Given the description of an element on the screen output the (x, y) to click on. 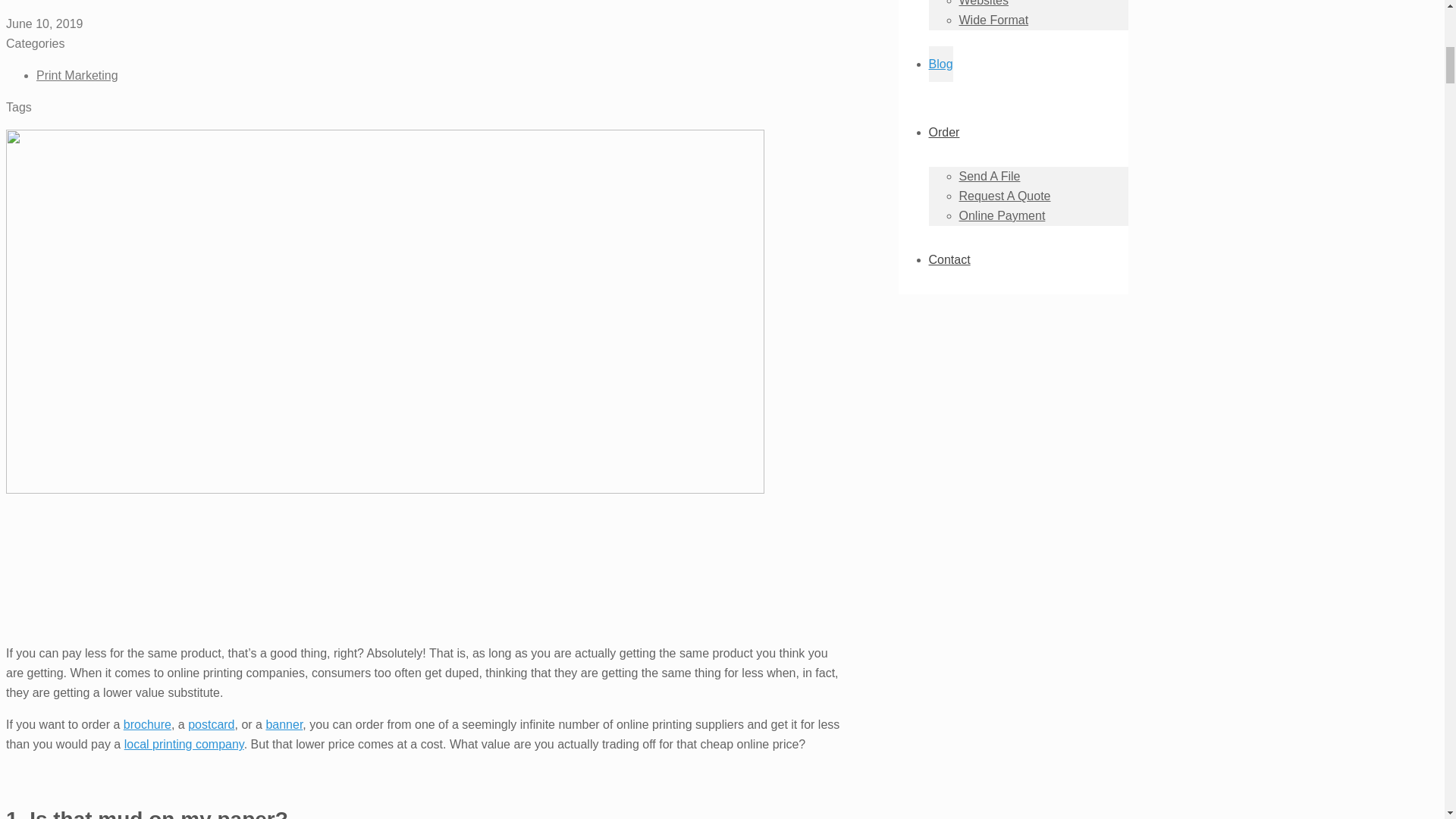
Websites (983, 3)
Online Payment (1001, 215)
Send A File (989, 175)
Request A Quote (1003, 195)
Contact (948, 259)
Wide Format (992, 19)
